Given the description of an element on the screen output the (x, y) to click on. 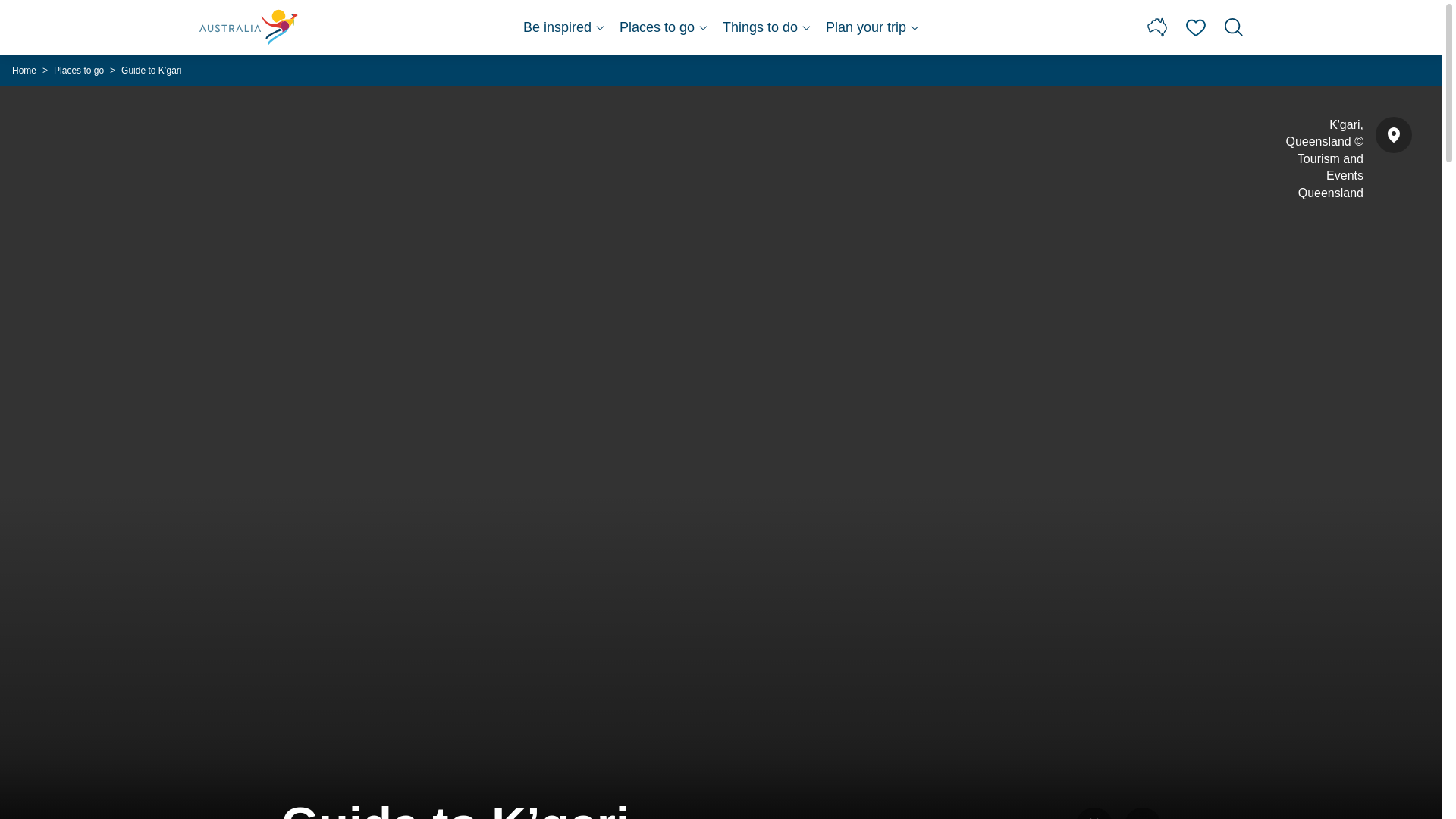
Be inspired (563, 27)
Australia (248, 27)
Things to do (766, 27)
Plan your trip (871, 27)
Places to go (663, 27)
